Given the description of an element on the screen output the (x, y) to click on. 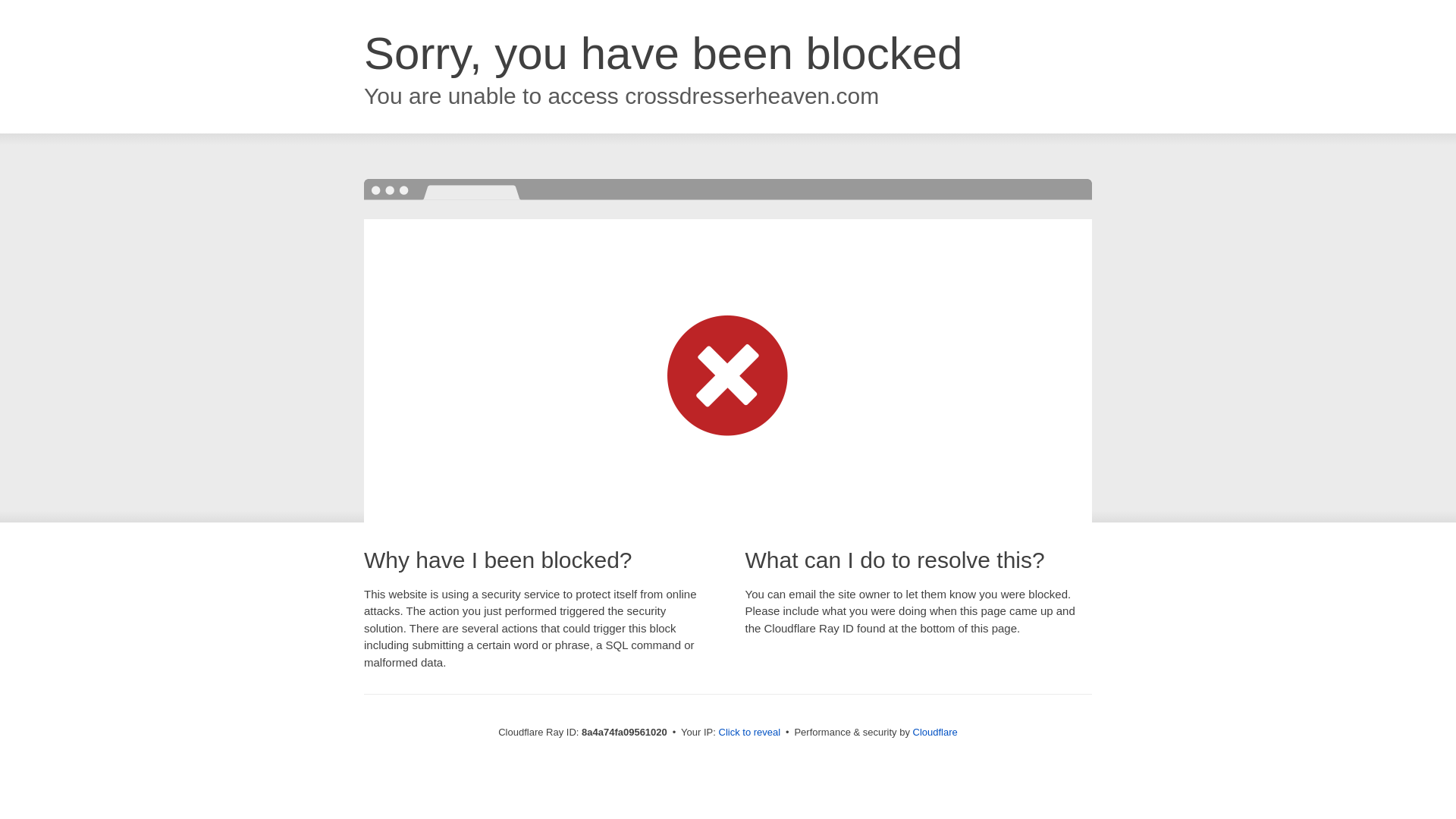
Cloudflare (935, 731)
Click to reveal (749, 732)
